Given the description of an element on the screen output the (x, y) to click on. 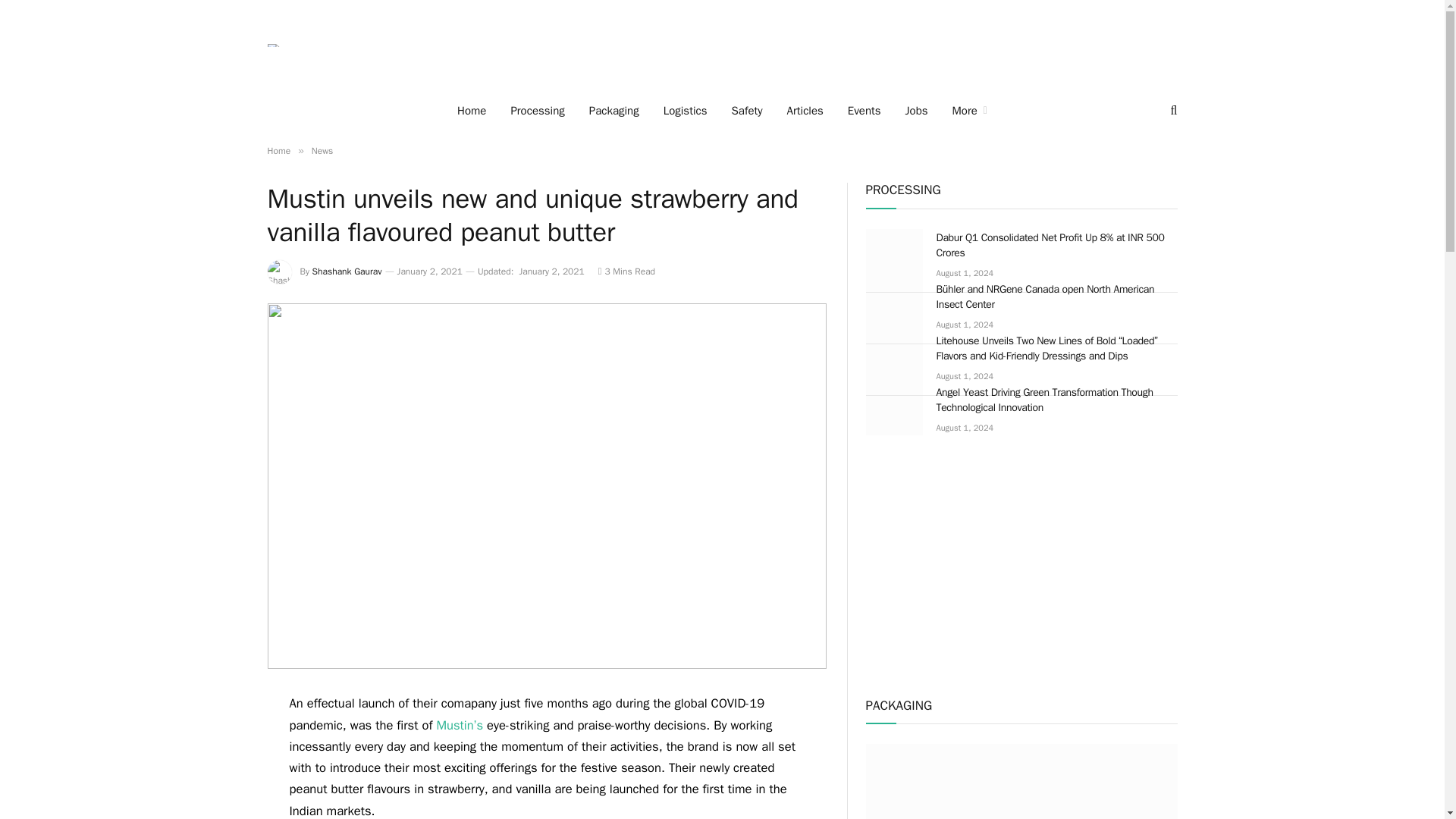
Logistics (684, 110)
Posts by Shashank Gaurav (347, 271)
Processing (536, 110)
Events (864, 110)
News (322, 150)
Articles (804, 110)
Jobs (916, 110)
More (969, 110)
Packaging (613, 110)
Shashank Gaurav (347, 271)
Safety (746, 110)
Home (471, 110)
Home (277, 150)
